Given the description of an element on the screen output the (x, y) to click on. 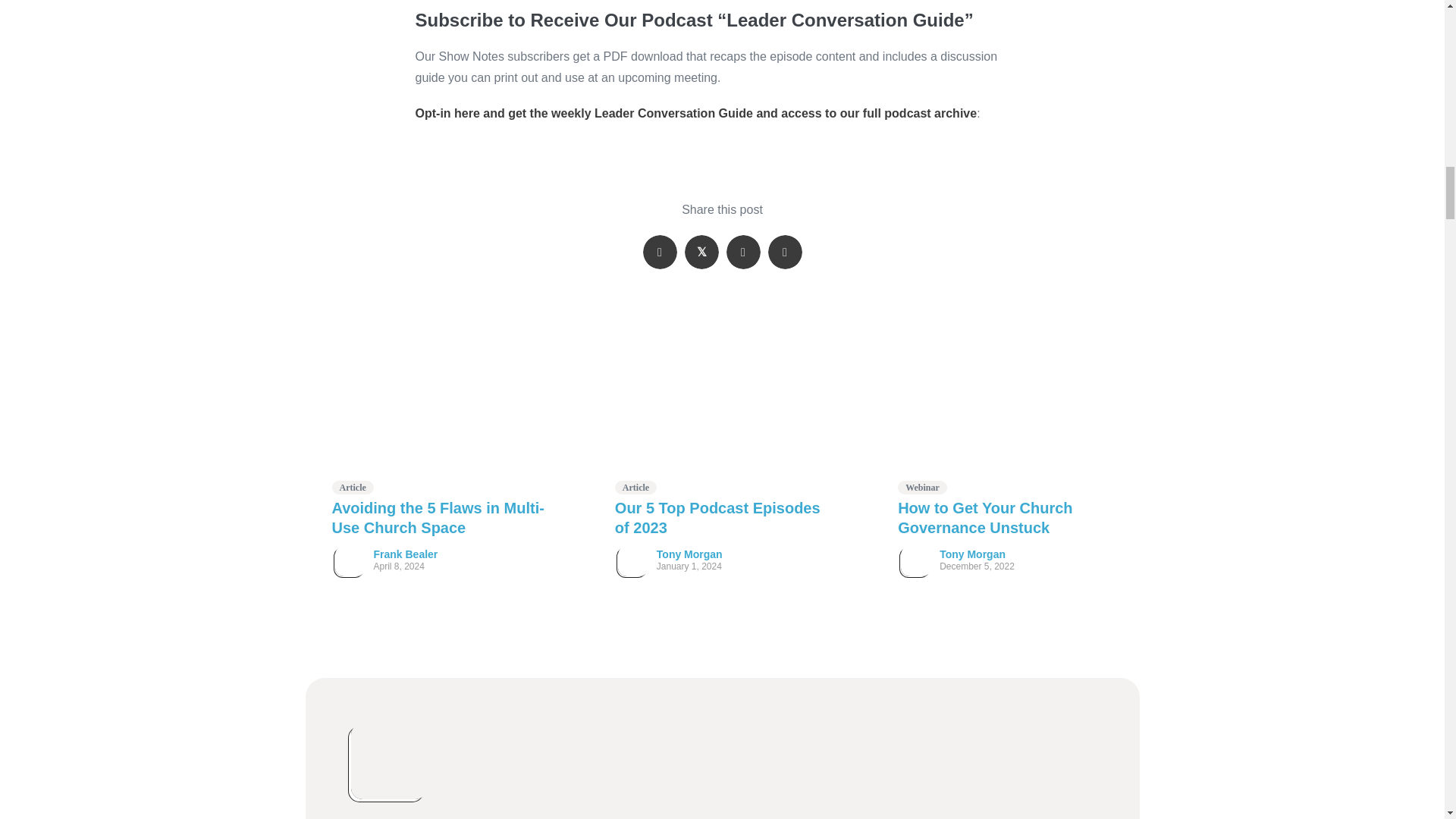
Avoiding the 5 Flaws in Multi-Use Church Space (439, 404)
How to Get Your Church Governance Unstuck (984, 517)
How to Get Your Church Governance Unstuck (1004, 404)
Our 5 Top Podcast Episodes of 2023 (722, 404)
Our 5 Top Podcast Episodes of 2023 (717, 517)
Avoiding the 5 Flaws in Multi-Use Church Space (437, 517)
